Given the description of an element on the screen output the (x, y) to click on. 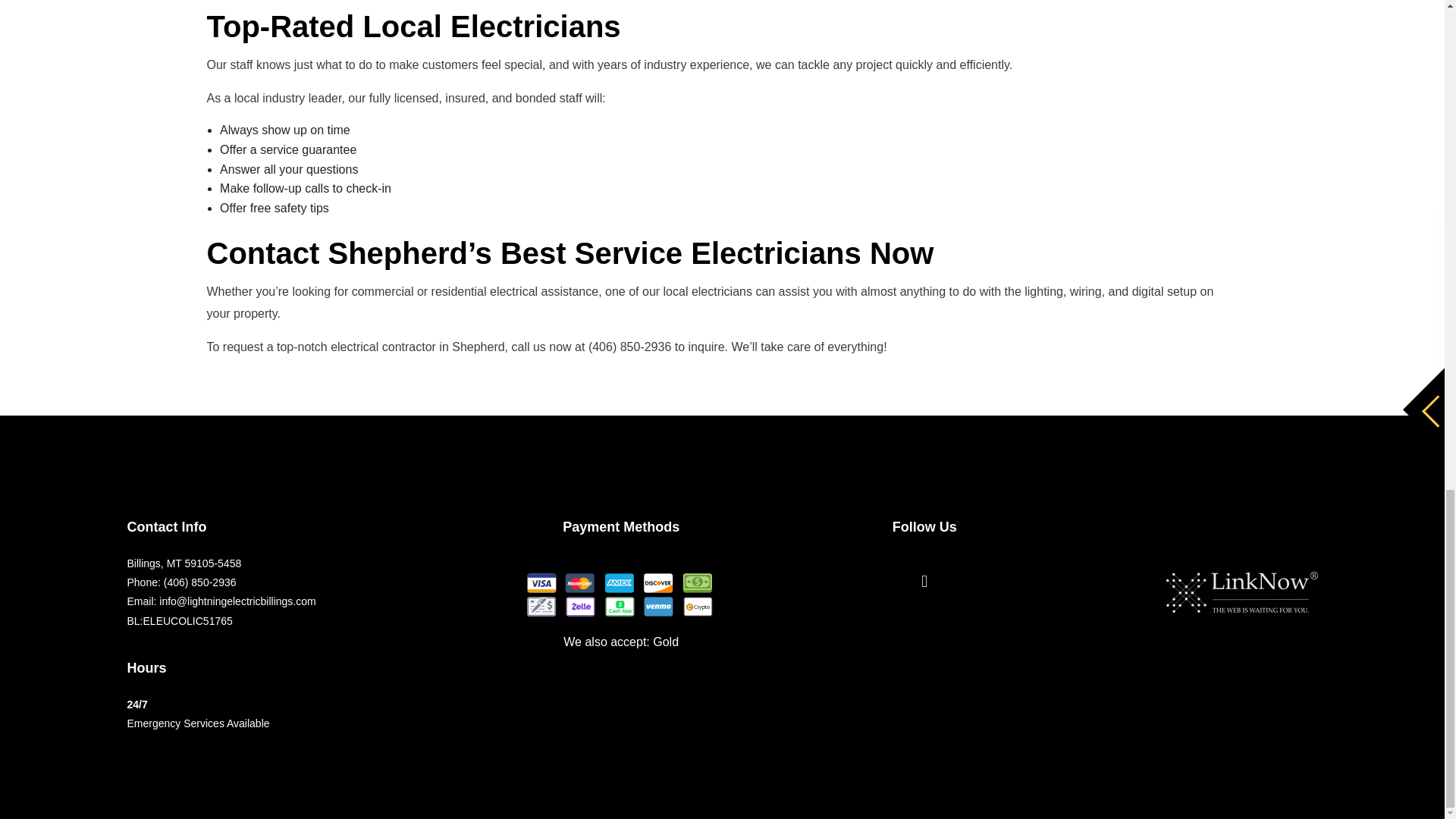
American Express (619, 582)
Cash (697, 582)
Zelle (579, 606)
Mastercard (579, 582)
Venmo (658, 606)
Discover (658, 582)
Visa (541, 582)
Google Maps (924, 582)
Crypto (697, 606)
Cash App (619, 606)
Check (541, 606)
